Given the description of an element on the screen output the (x, y) to click on. 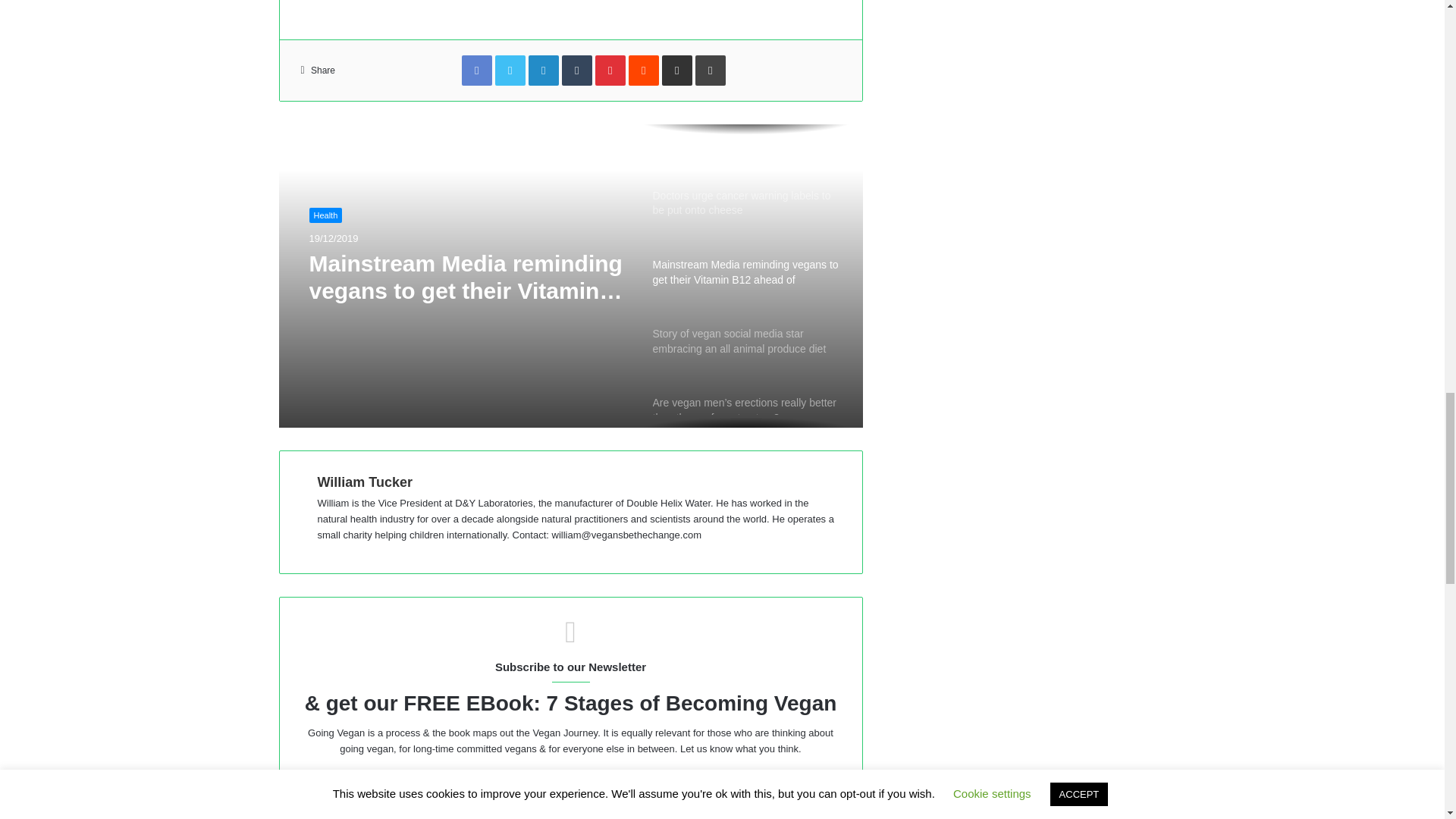
Twitter (510, 70)
LinkedIn (543, 70)
Facebook (476, 70)
Tumblr (577, 70)
Pinterest (610, 70)
Subscribe (569, 814)
